Given the description of an element on the screen output the (x, y) to click on. 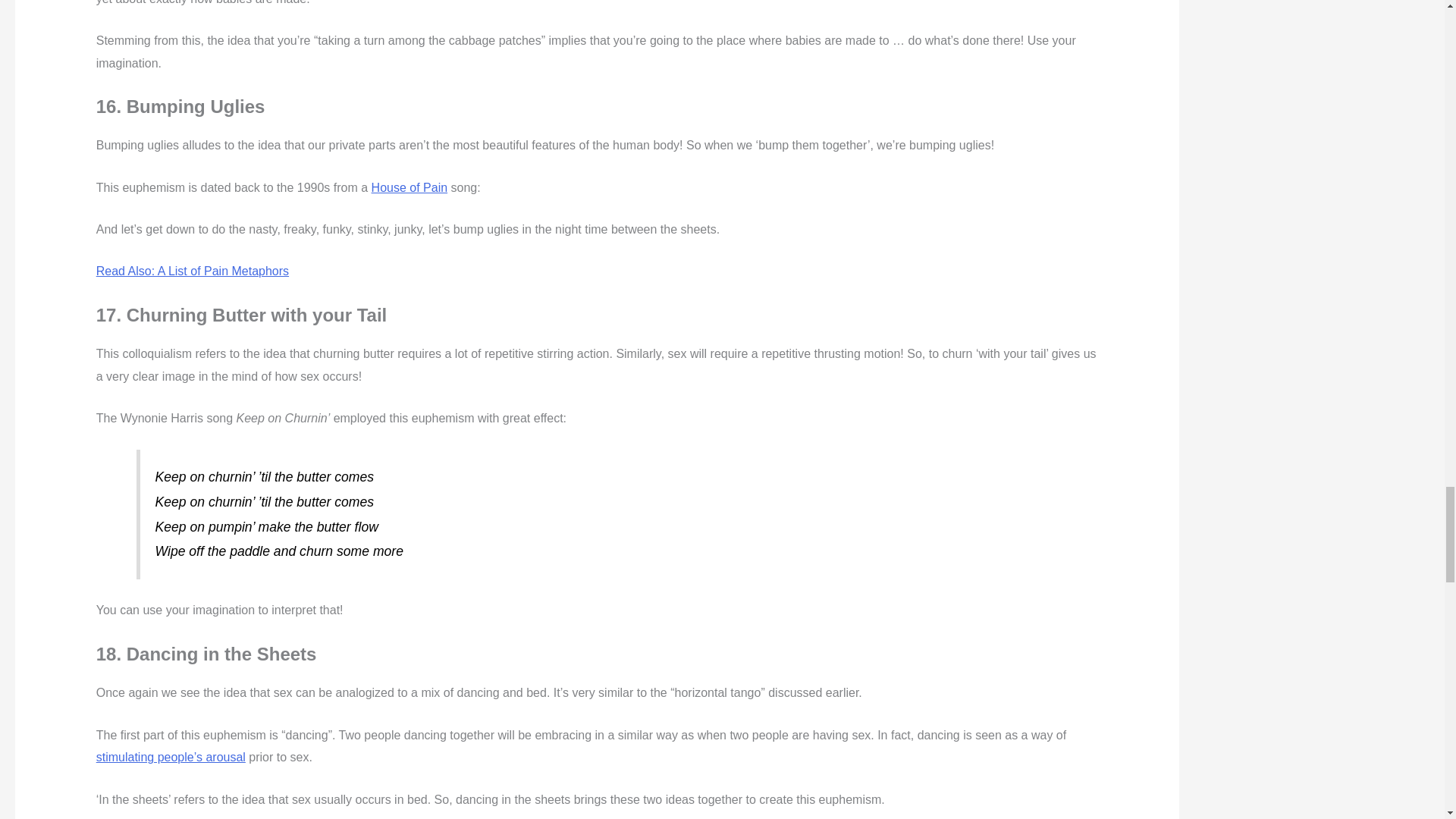
House of Pain (409, 187)
Read Also: A List of Pain Metaphors (192, 270)
